Given the description of an element on the screen output the (x, y) to click on. 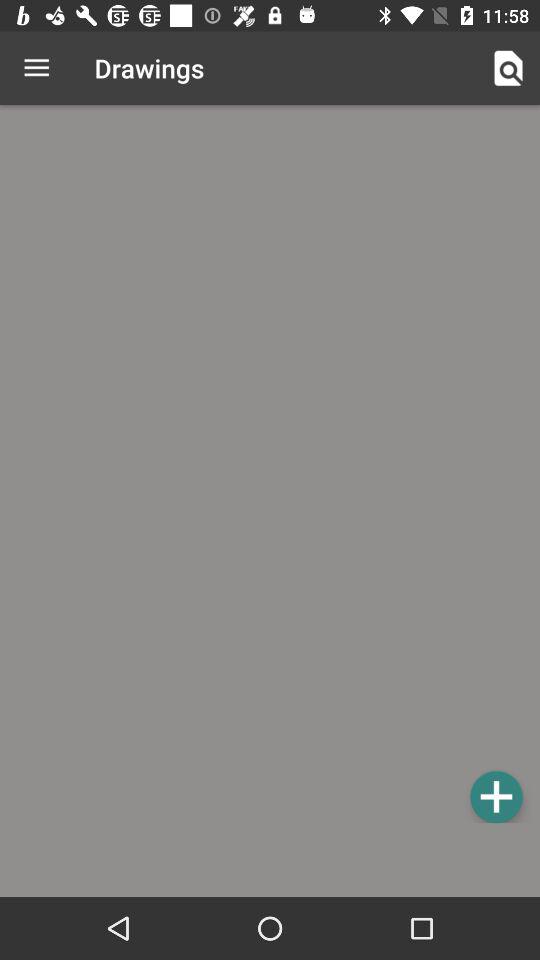
launch the item next to the drawings icon (36, 68)
